Given the description of an element on the screen output the (x, y) to click on. 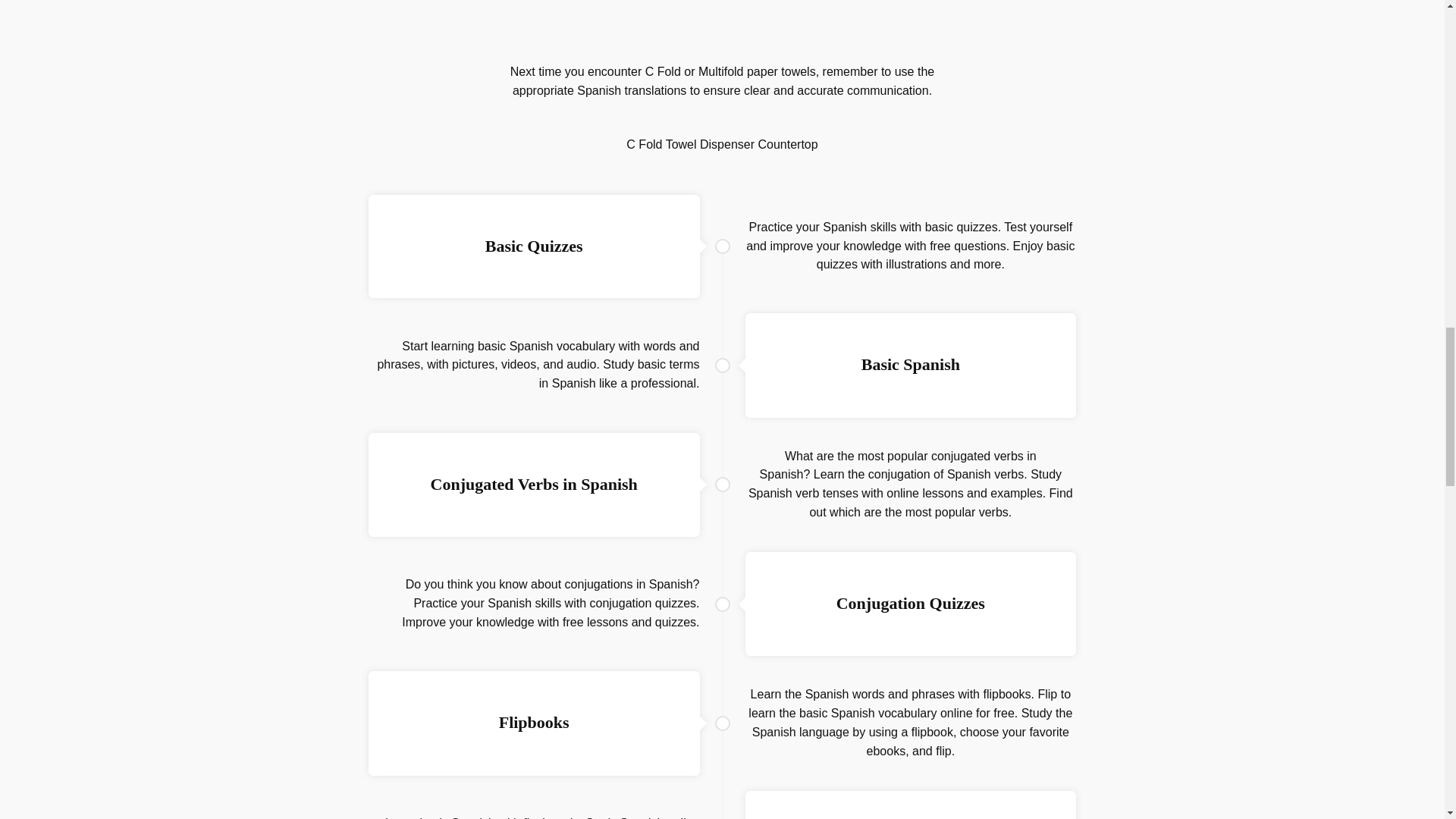
Basic Quizzes (533, 245)
Flipbooks (534, 722)
Basic Spanish (910, 363)
C Fold Towel Dispenser Countertop (721, 144)
Conjugation Quizzes (910, 602)
Conjugated Verbs in Spanish (533, 484)
